Given the description of an element on the screen output the (x, y) to click on. 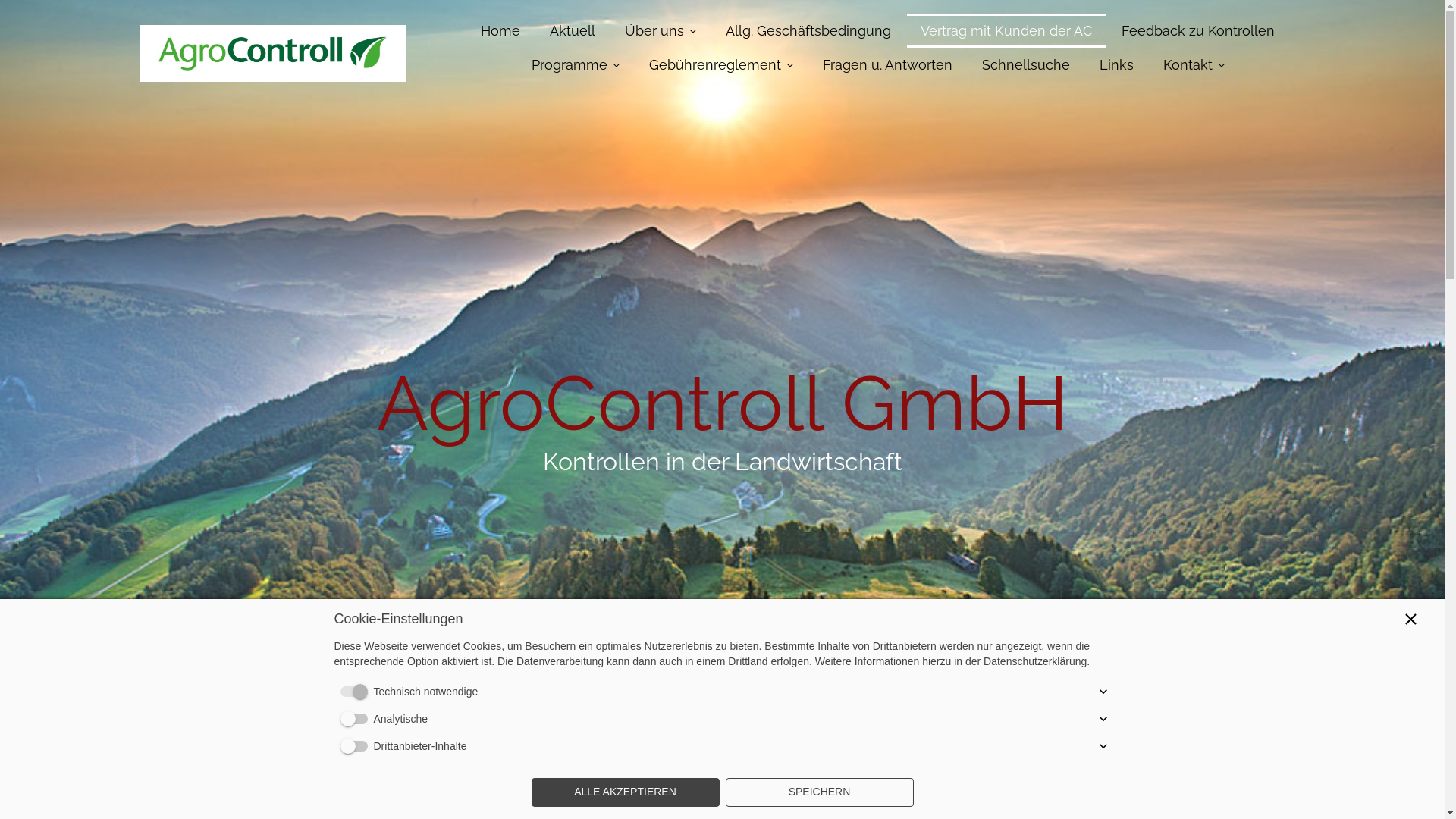
Aktuell Element type: text (572, 30)
Vertrag mit Kunden der AC Element type: text (1005, 30)
ALLE AKZEPTIEREN Element type: text (624, 792)
Home Element type: text (500, 30)
Kontakt Element type: text (1193, 64)
Links Element type: text (1116, 64)
Schnellsuche Element type: text (1024, 64)
Fragen u. Antworten Element type: text (886, 64)
Programme Element type: text (574, 64)
Feedback zu Kontrollen Element type: text (1197, 30)
SPEICHERN Element type: text (818, 792)
